Given the description of an element on the screen output the (x, y) to click on. 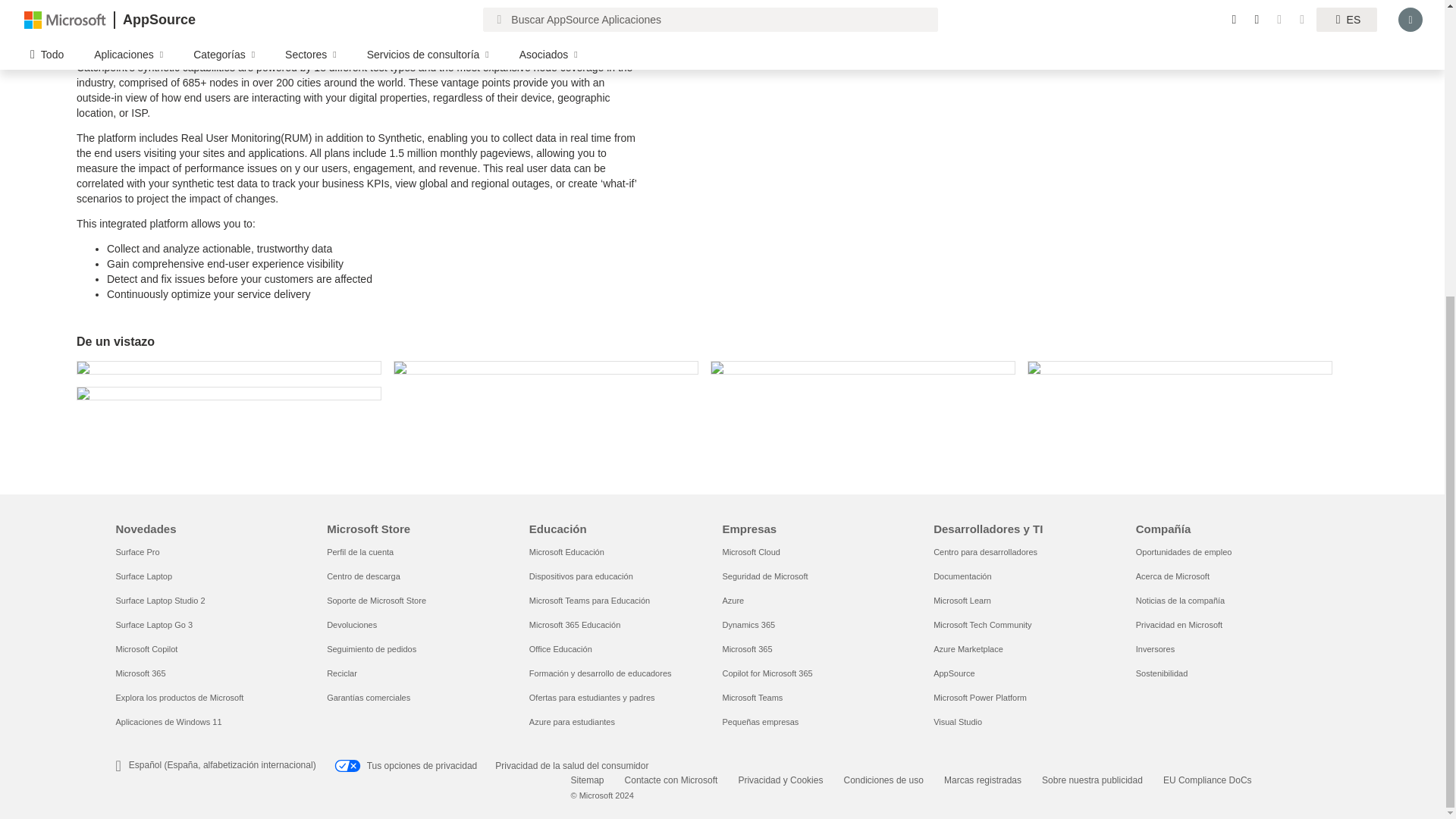
Surface Pro (136, 551)
Centro de descarga (363, 575)
Seguimiento de pedidos (371, 648)
Microsoft 365 (140, 673)
Aplicaciones de Windows 11 (168, 721)
Microsoft Copilot (146, 648)
Surface Laptop Studio 2 (160, 600)
Perfil de la cuenta (359, 551)
Surface Laptop (143, 575)
Devoluciones (351, 624)
